Given the description of an element on the screen output the (x, y) to click on. 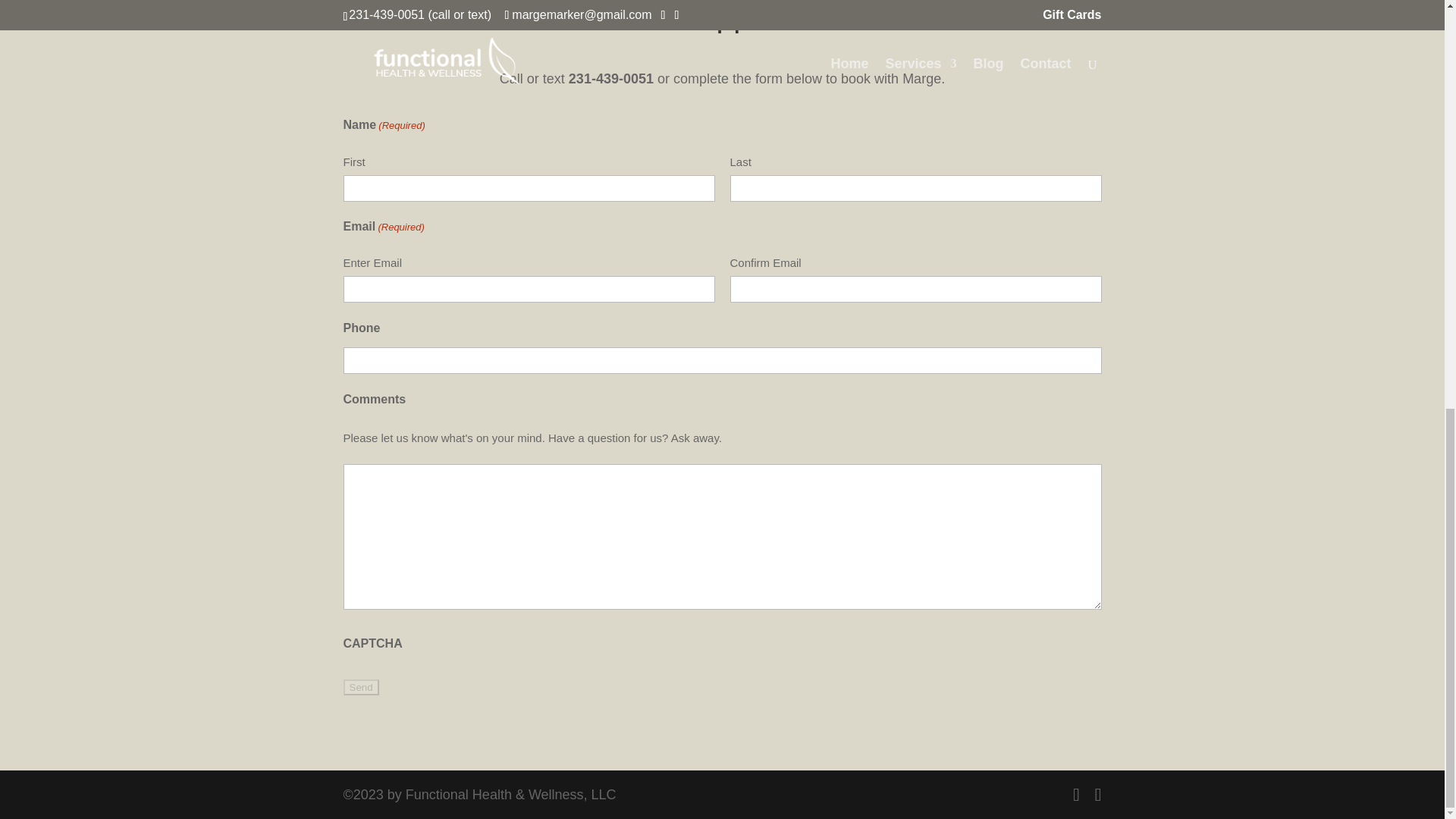
Send (360, 687)
Send (360, 687)
